Given the description of an element on the screen output the (x, y) to click on. 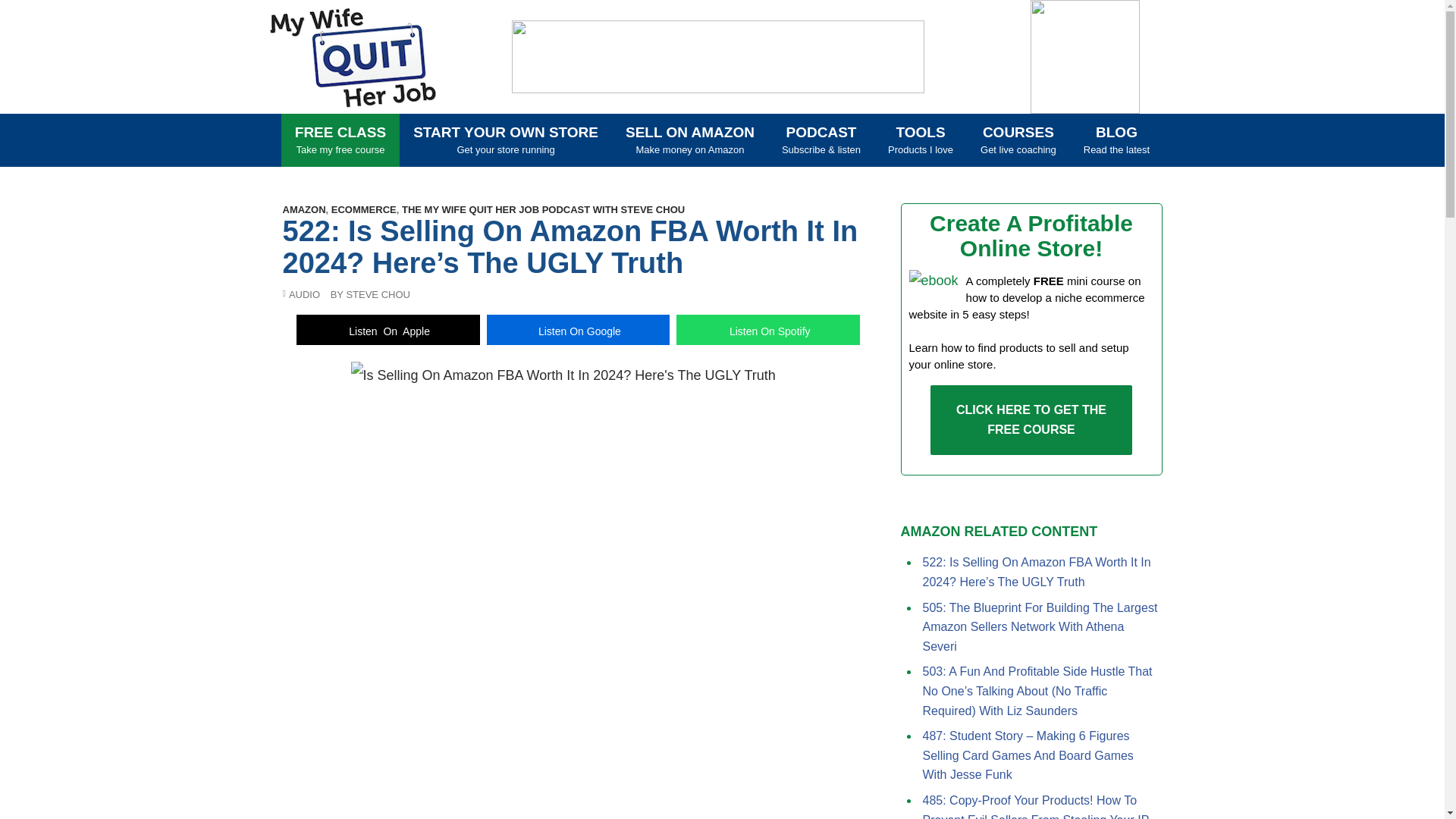
 Listen On Google (339, 140)
MyWifeQuitHerJob.com (577, 329)
SKIP TO CONTENT (365, 56)
 Listen On Spotify (773, 134)
CLICK HERE TO GET THE FREE COURSE (768, 329)
AUDIO (504, 140)
 Listen  On  Apple (1031, 419)
